Given the description of an element on the screen output the (x, y) to click on. 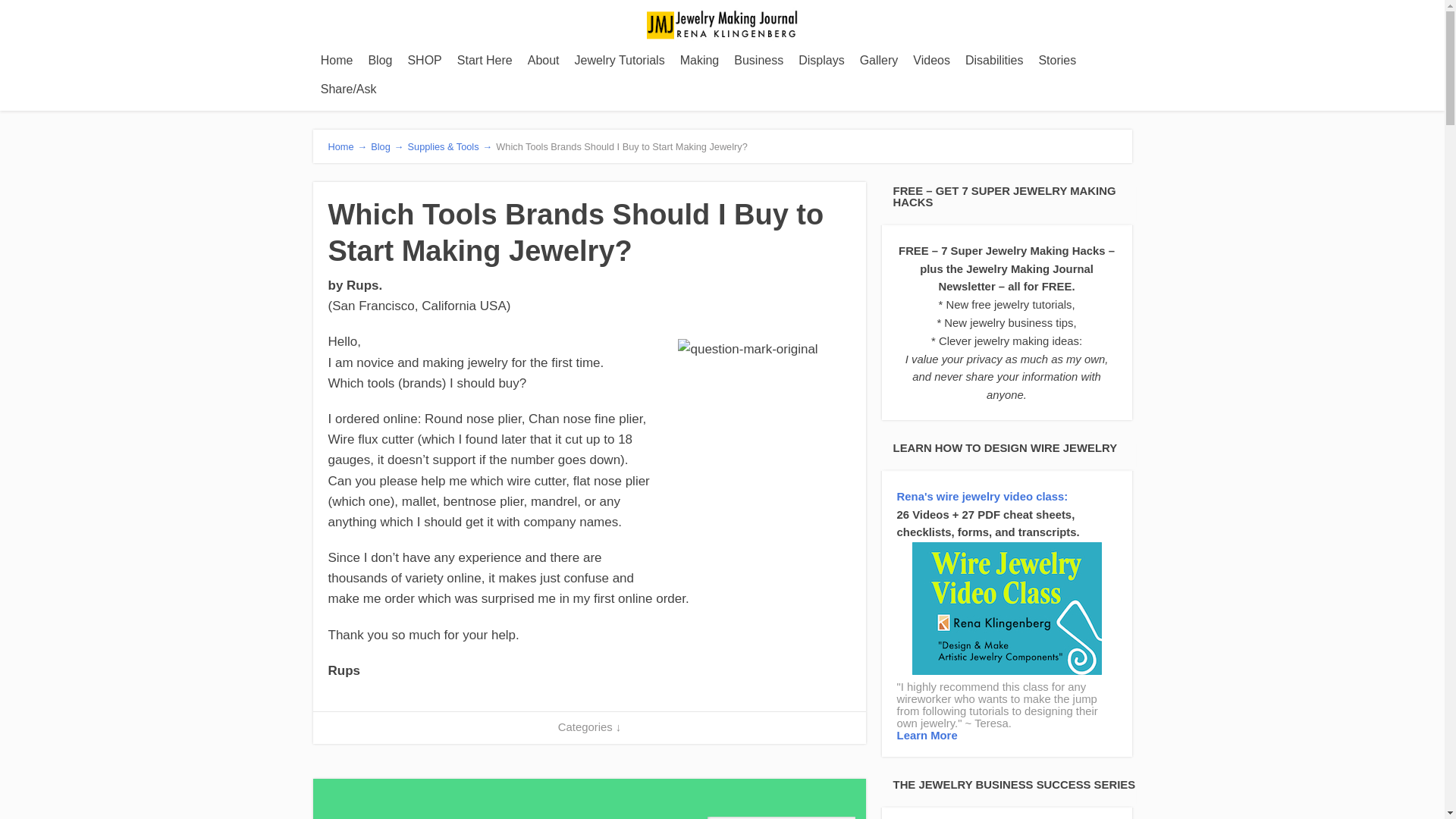
Start Here (484, 60)
Home (337, 60)
Blog (378, 60)
About (543, 60)
SHOP (423, 60)
Making (699, 60)
Jewelry Tutorials (619, 60)
Business (758, 60)
